Given the description of an element on the screen output the (x, y) to click on. 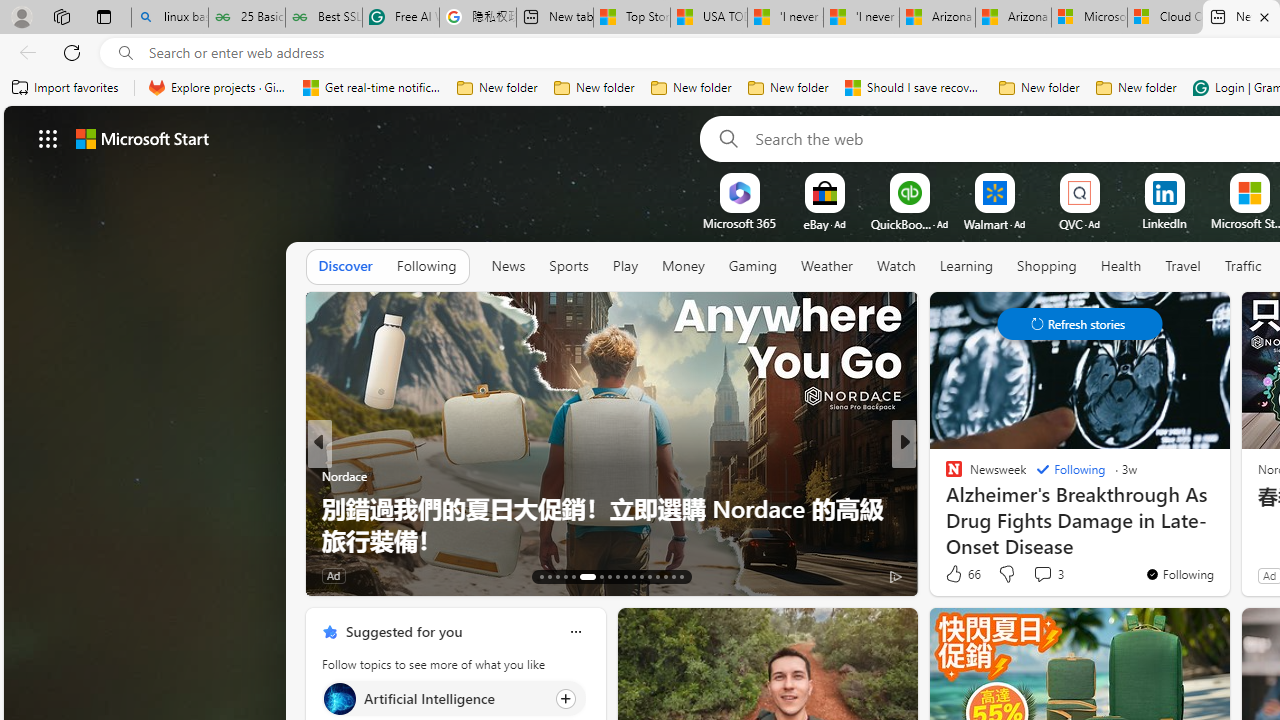
Import favorites (65, 88)
Hide this story (1169, 315)
oceanbluemarine (982, 507)
AutomationID: tab-19 (594, 576)
Travel (1183, 265)
Sports (568, 265)
Gaming (752, 265)
Play (625, 265)
Shopping (1046, 267)
